Given the description of an element on the screen output the (x, y) to click on. 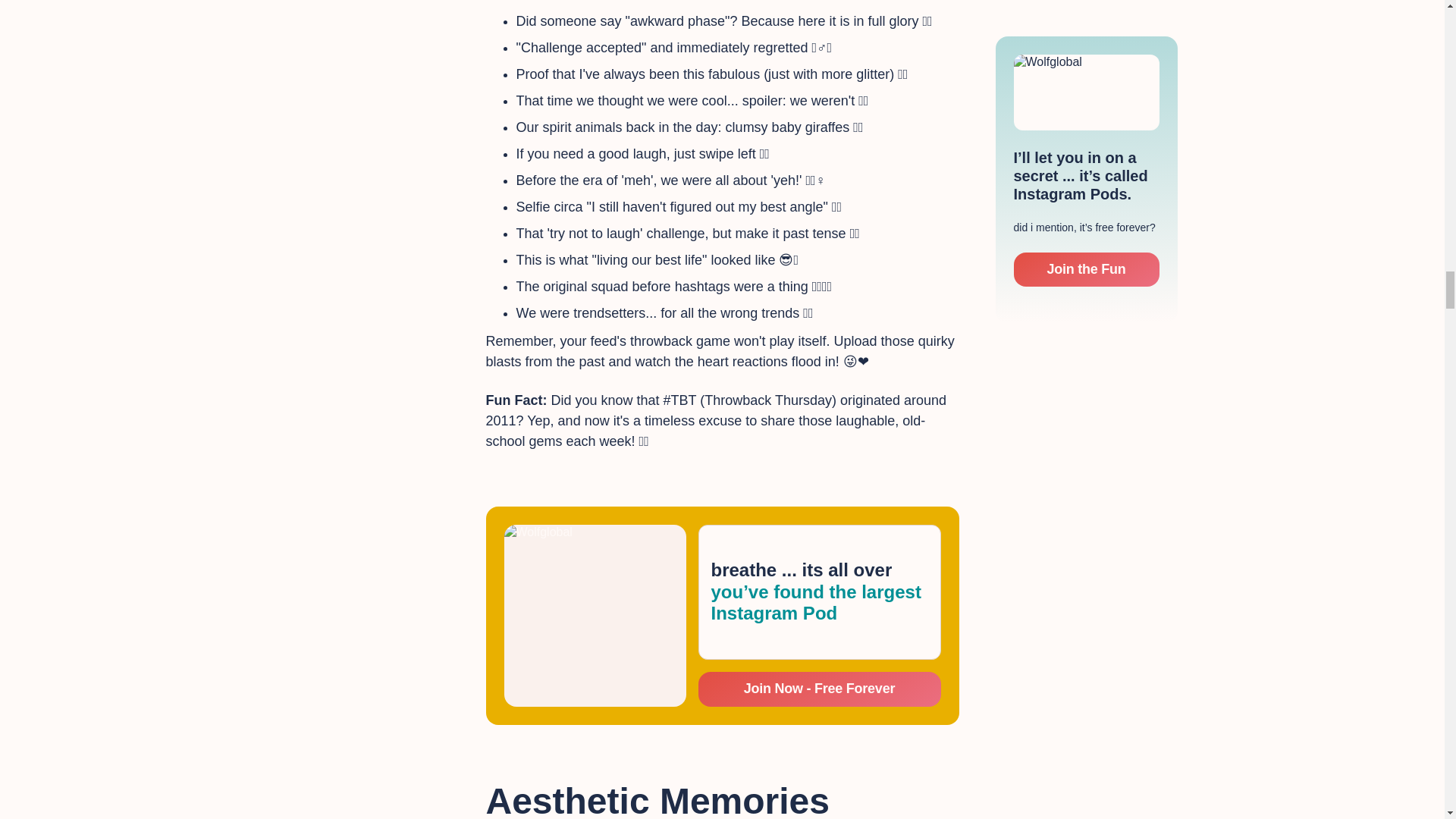
Join Now - Free Forever (818, 688)
